Given the description of an element on the screen output the (x, y) to click on. 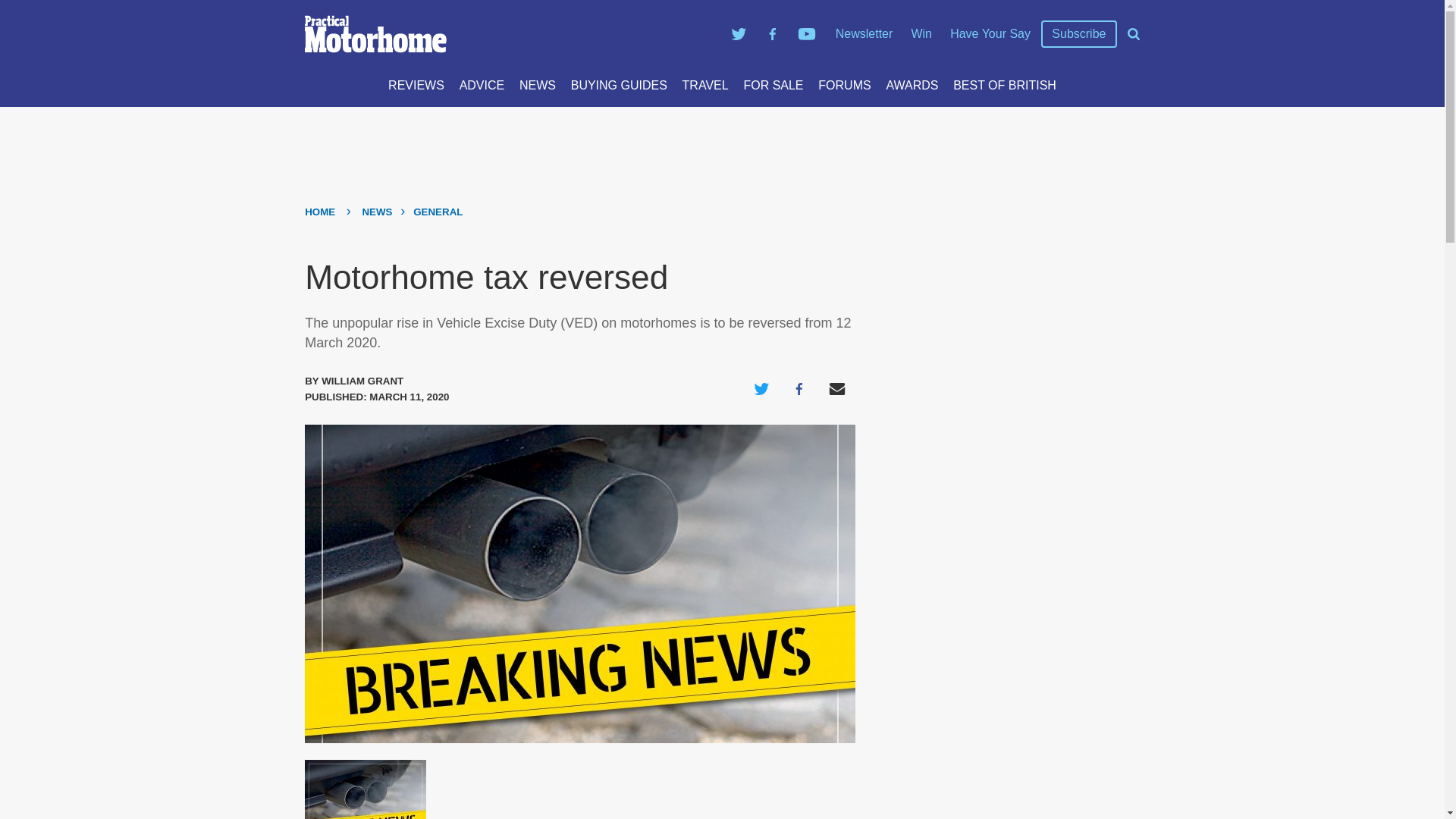
Newsletter (863, 33)
logoCreated with Sketch. (509, 34)
Win (921, 33)
Have Your Say (990, 33)
NEWS (537, 84)
logoCreated with Sketch. (375, 34)
Share on Twitter (761, 388)
Share on Facebook (799, 388)
Subscribe (1078, 34)
Share via Email (837, 388)
